Given the description of an element on the screen output the (x, y) to click on. 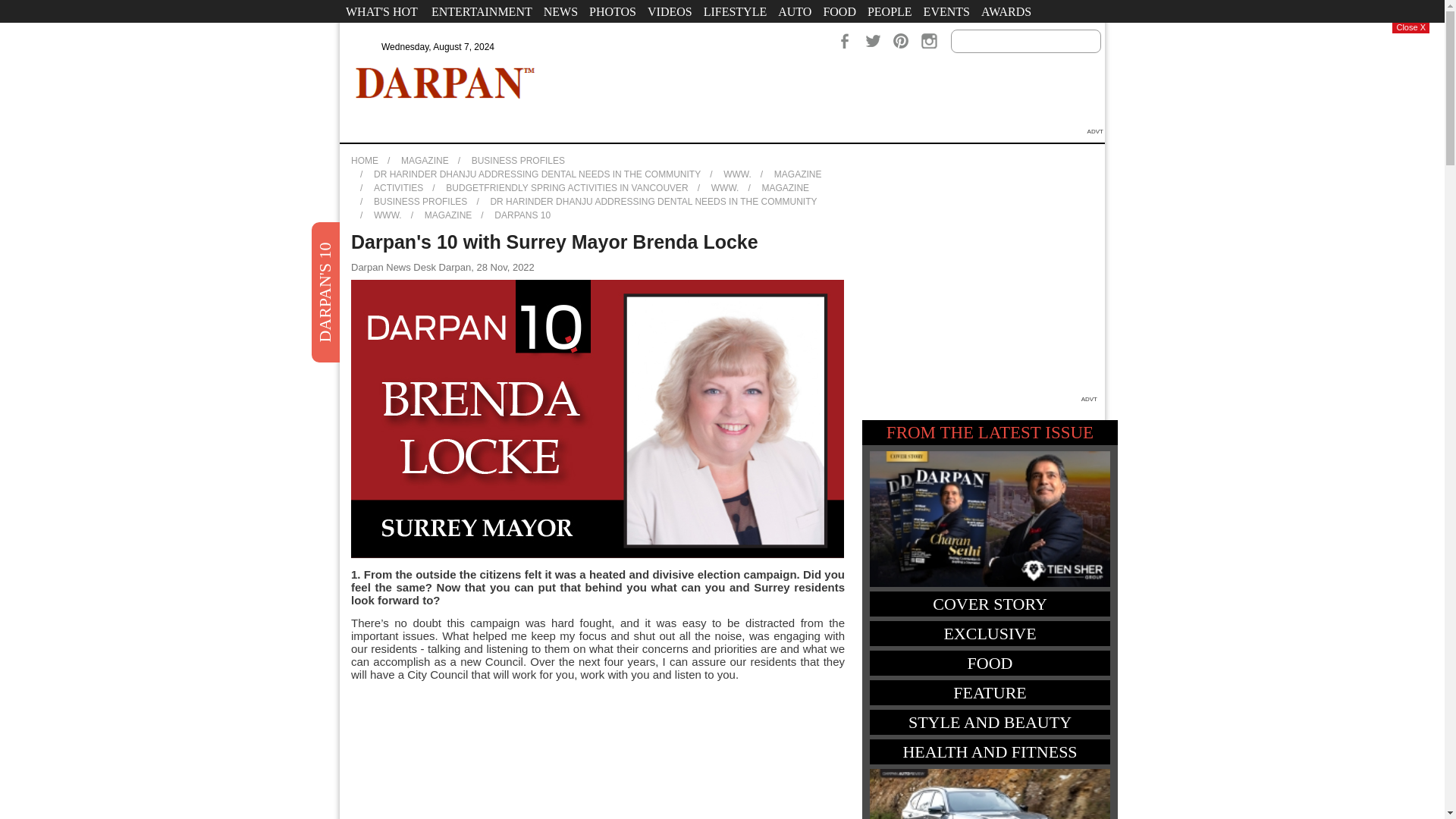
PHOTOS (612, 11)
Magazine (469, 33)
DR HARINDER DHANJU ADDRESSING DENTAL NEEDS IN THE COMMUNITY (652, 201)
PEOPLE (889, 11)
DARPANS 10 (522, 214)
MAGAZINE (785, 187)
MAGAZINE (448, 214)
Lifestyle (735, 11)
FOOD (839, 11)
Photos (612, 11)
